Given the description of an element on the screen output the (x, y) to click on. 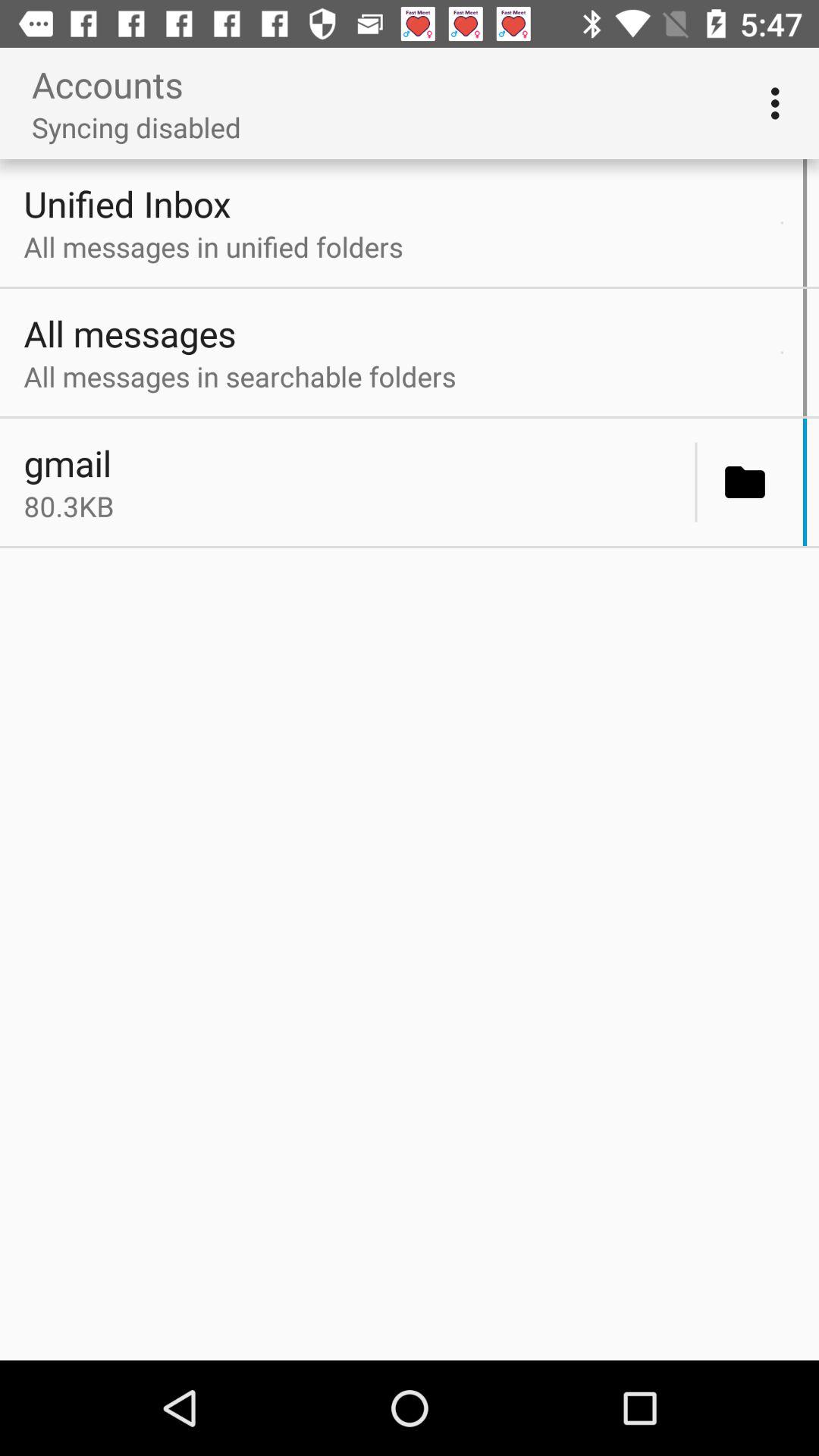
choose item to the right of the syncing disabled (779, 103)
